Given the description of an element on the screen output the (x, y) to click on. 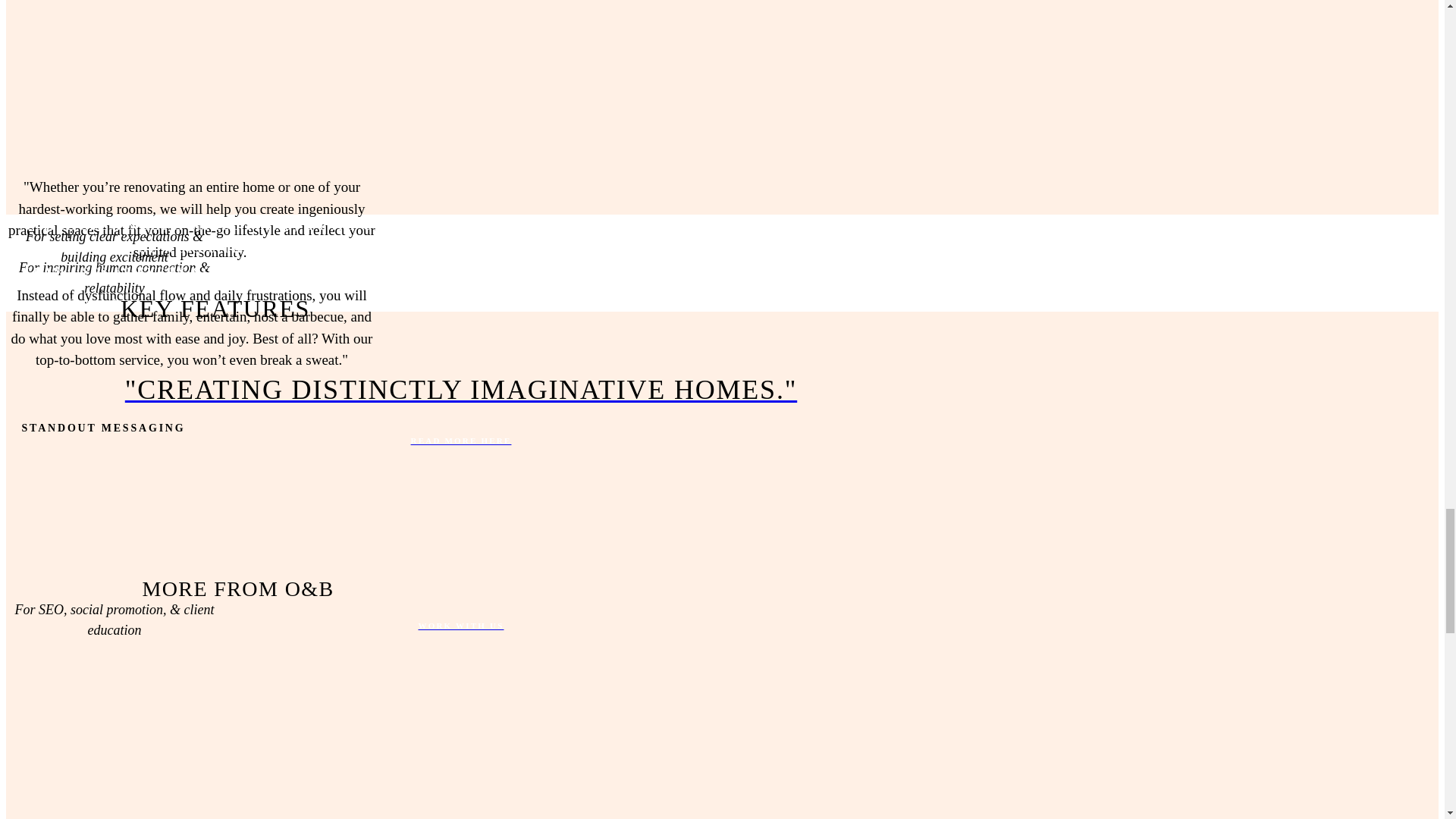
READ MORE HERE (460, 440)
"CREATING DISTINCTLY IMAGINATIVE HOMES." (460, 389)
WORK WITH US (460, 625)
